Given the description of an element on the screen output the (x, y) to click on. 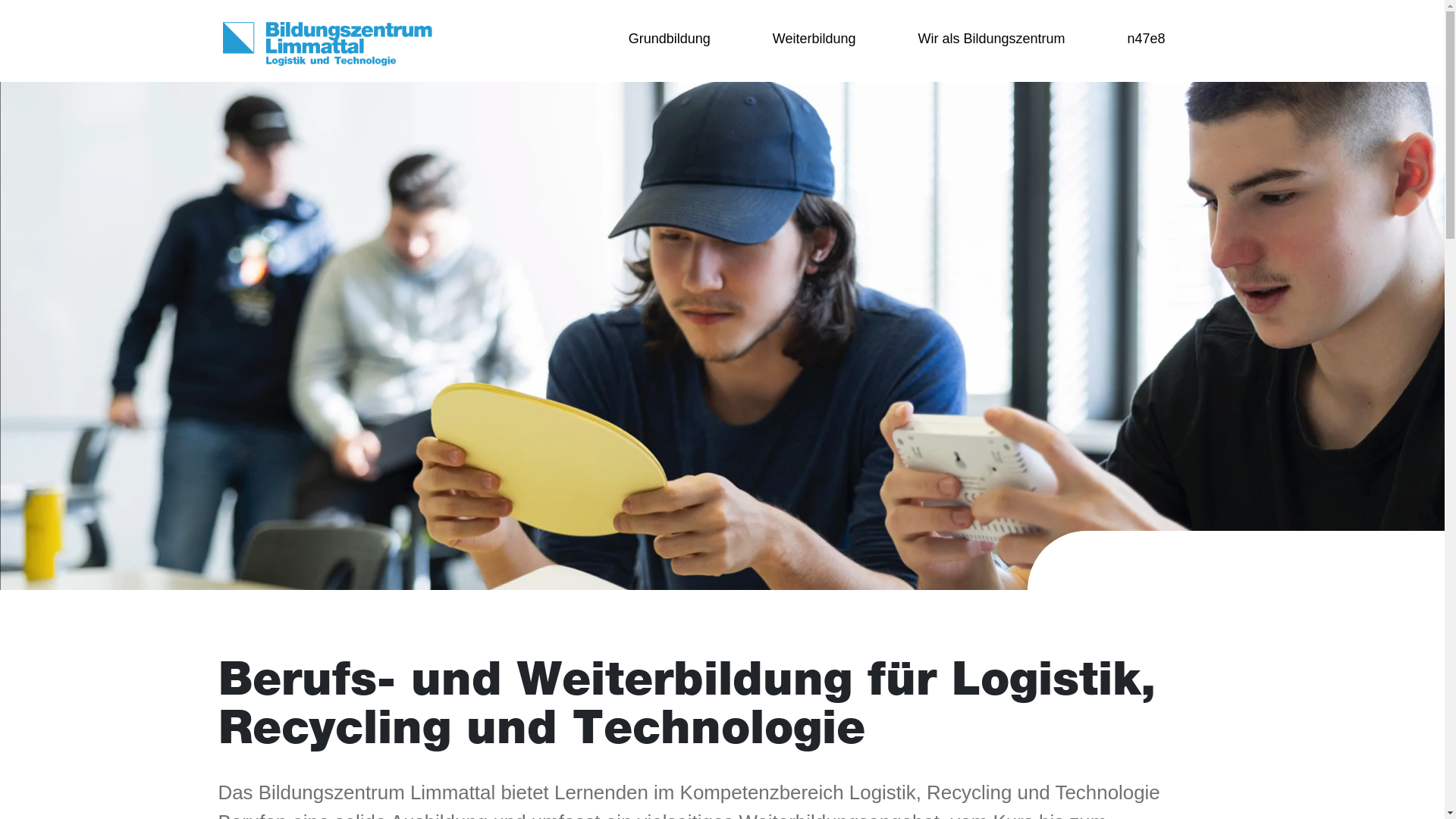
Wir als Bildungszentrum Element type: text (991, 38)
Weiterbildung Element type: text (813, 38)
n47e8 Element type: text (1133, 38)
Grundbildung Element type: text (669, 38)
